Given the description of an element on the screen output the (x, y) to click on. 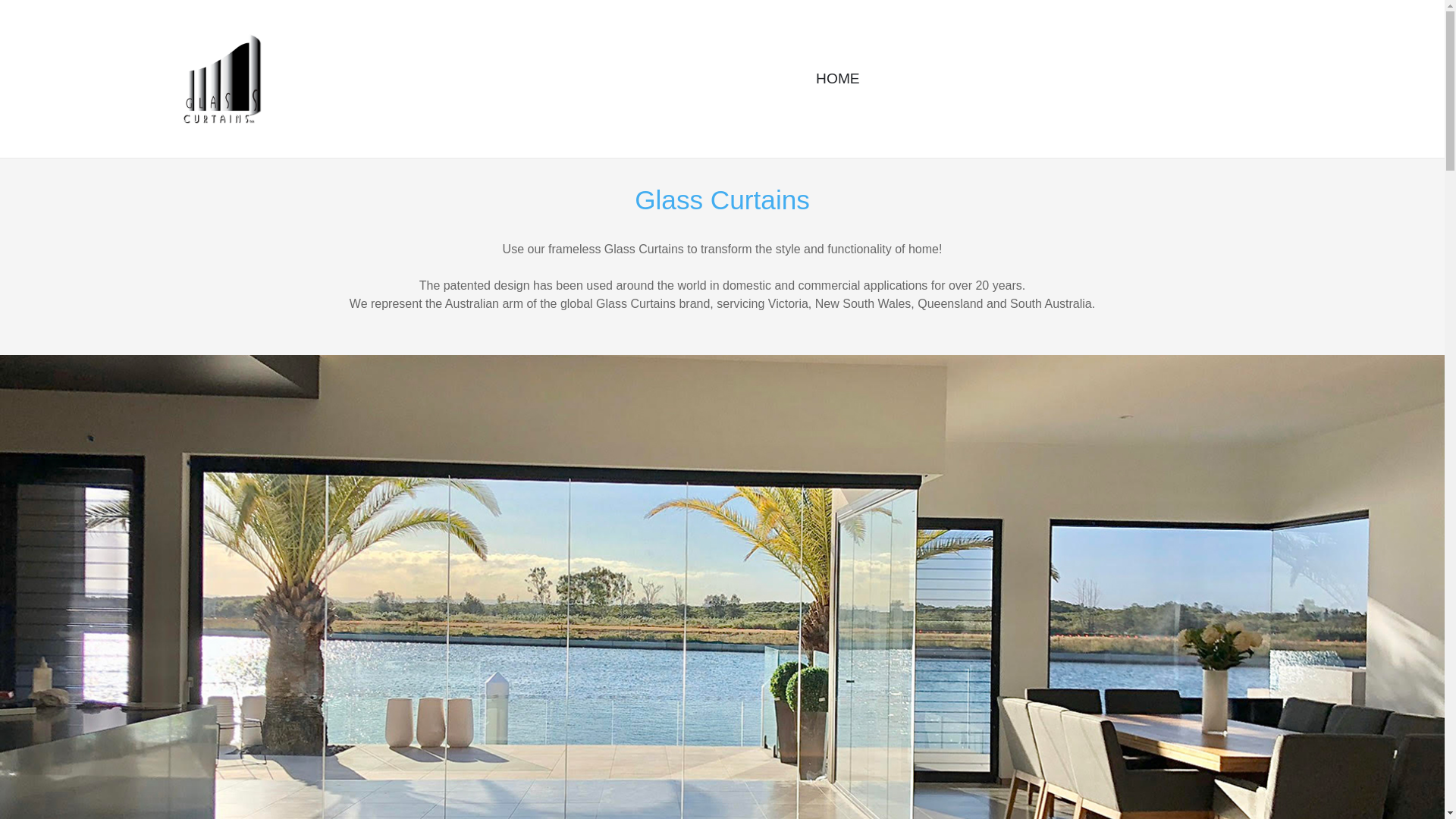
Glass Curtains Element type: hover (221, 77)
HOME Element type: text (837, 78)
